Given the description of an element on the screen output the (x, y) to click on. 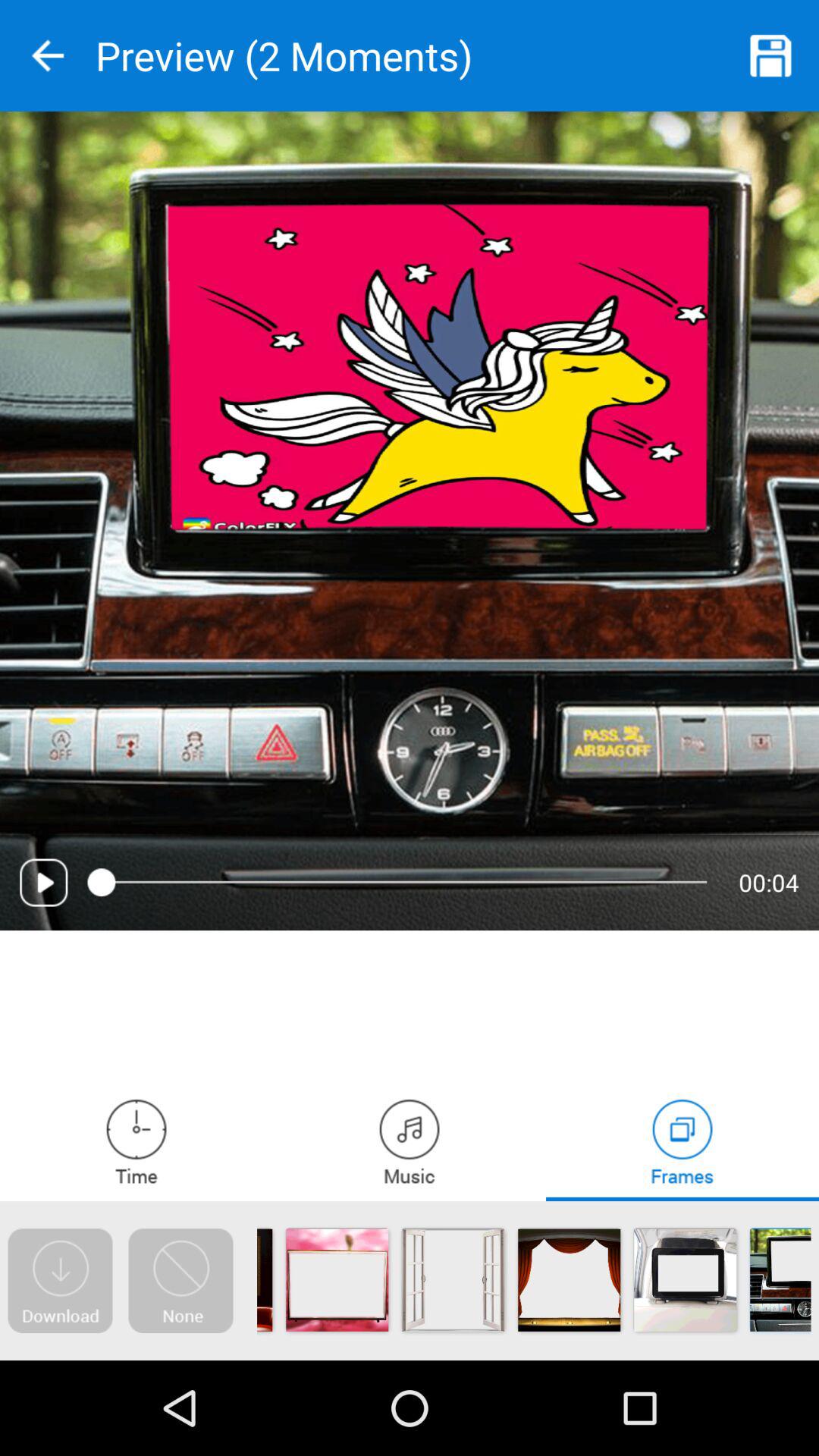
go to previous screen (47, 55)
